Given the description of an element on the screen output the (x, y) to click on. 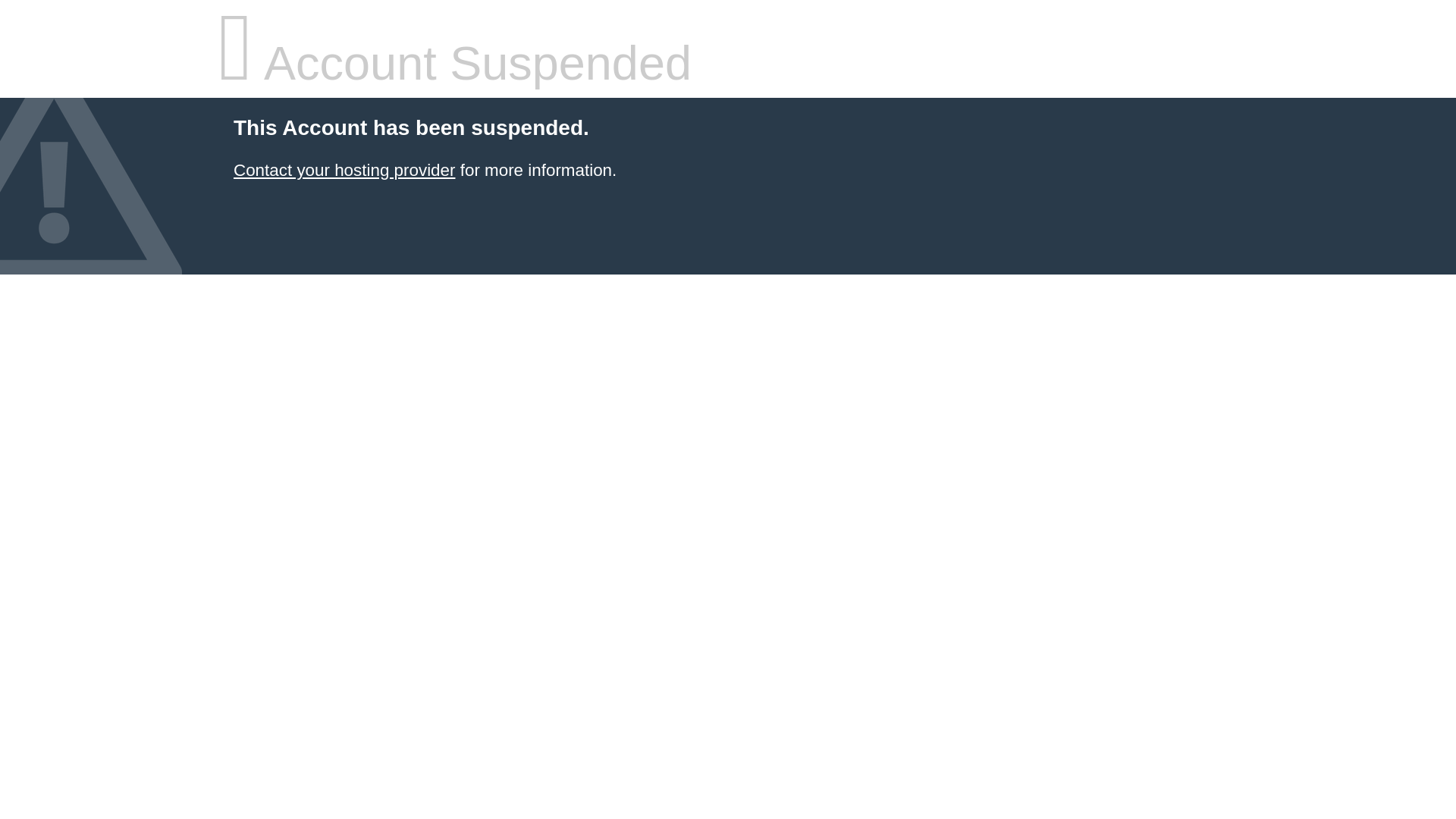
Contact your hosting provider (343, 169)
